Given the description of an element on the screen output the (x, y) to click on. 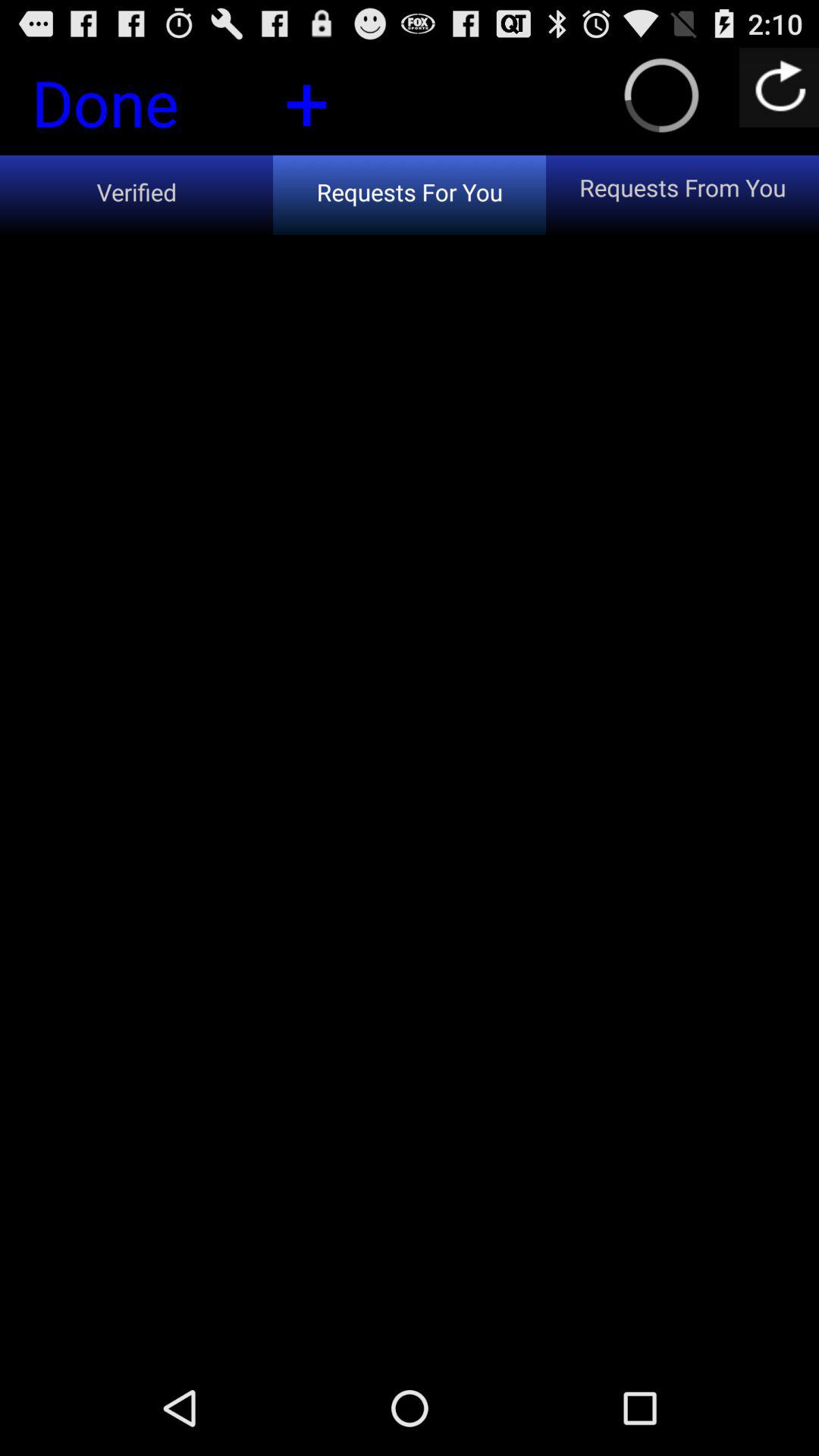
select the icon to the left of the requests from you icon (306, 100)
